Given the description of an element on the screen output the (x, y) to click on. 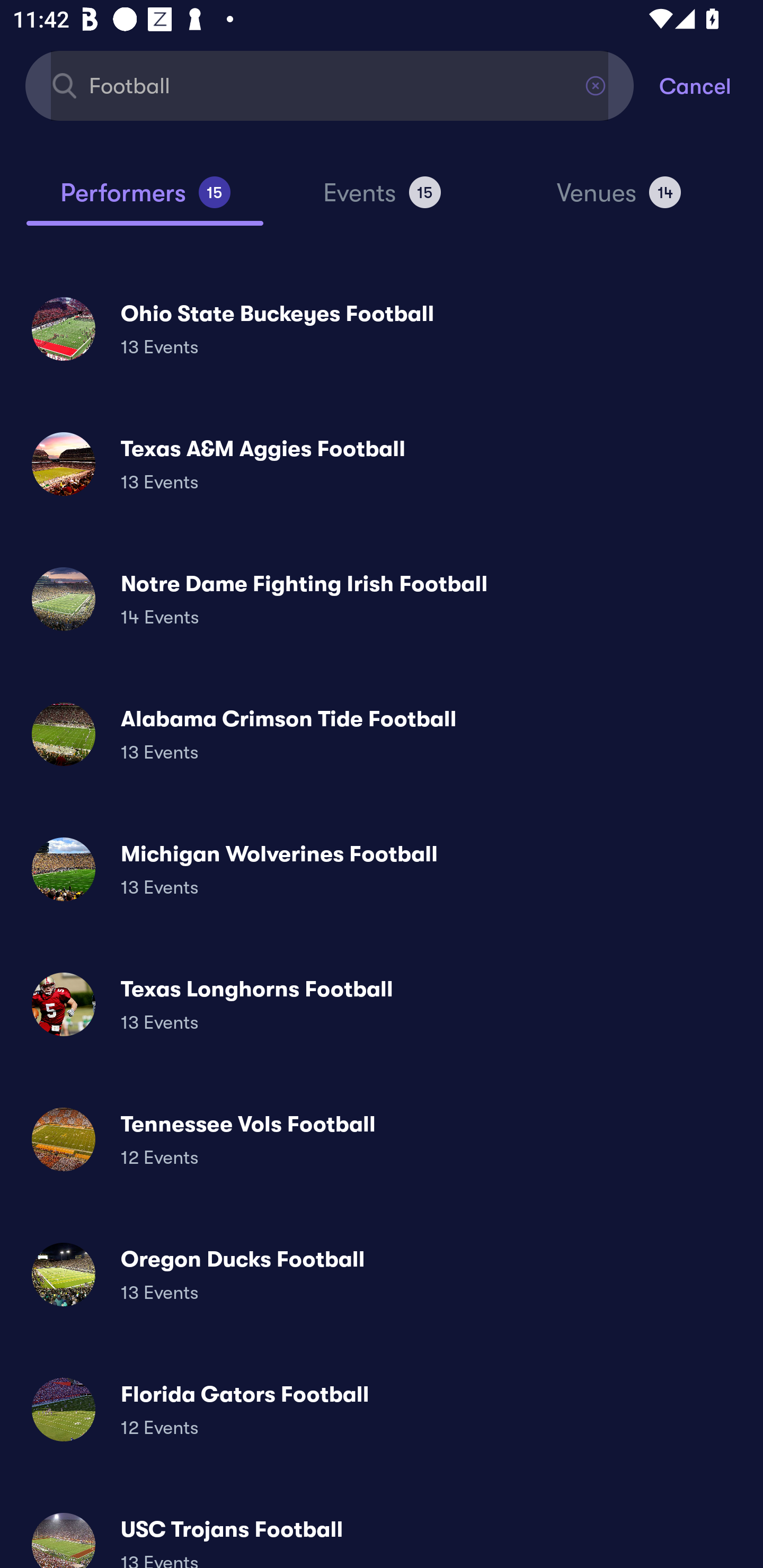
Football Find (329, 85)
Football Find (329, 85)
Cancel (711, 85)
Performers 15 (144, 200)
Events 15 (381, 200)
Venues 14 (618, 200)
Ohio State Buckeyes Football 13 Events (381, 328)
Texas A&M Aggies Football 13 Events (381, 464)
Notre Dame Fighting Irish Football 14 Events (381, 598)
Alabama Crimson Tide Football 13 Events (381, 734)
Michigan Wolverines Football 13 Events (381, 869)
Texas Longhorns Football 13 Events (381, 1004)
Tennessee Vols Football 12 Events (381, 1138)
Oregon Ducks Football 13 Events (381, 1273)
Florida Gators Football 12 Events (381, 1409)
USC Trojans Football 13 Events (381, 1532)
